Given the description of an element on the screen output the (x, y) to click on. 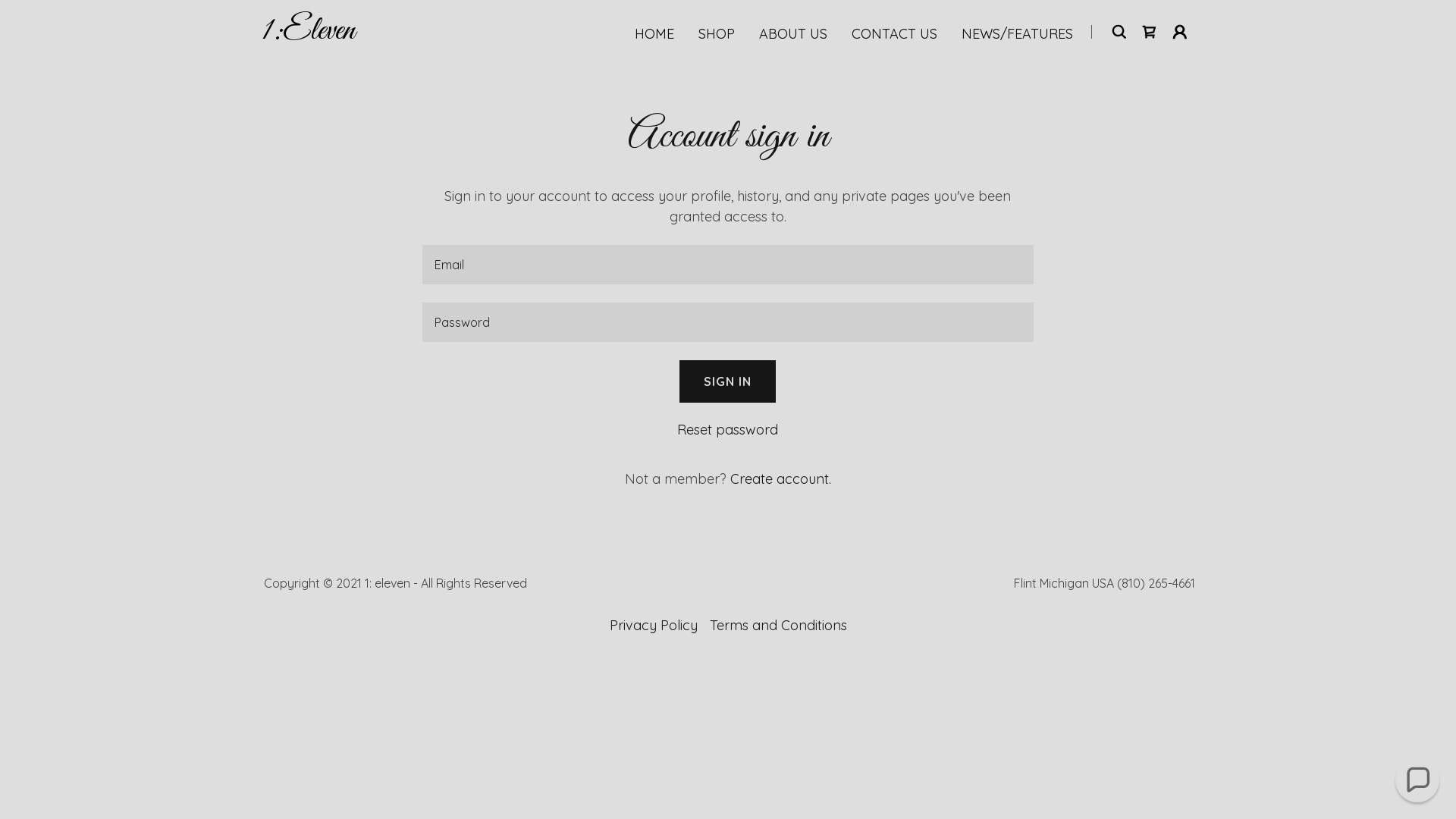
NEWS/FEATURES Element type: text (1017, 33)
Create account. Element type: text (780, 478)
Reset password Element type: text (727, 429)
CONTACT US Element type: text (894, 33)
1:Eleven Element type: text (307, 33)
HOME Element type: text (654, 33)
Terms and Conditions Element type: text (778, 625)
ABOUT US Element type: text (792, 33)
SHOP Element type: text (716, 33)
SIGN IN Element type: text (727, 381)
Privacy Policy Element type: text (653, 625)
